Given the description of an element on the screen output the (x, y) to click on. 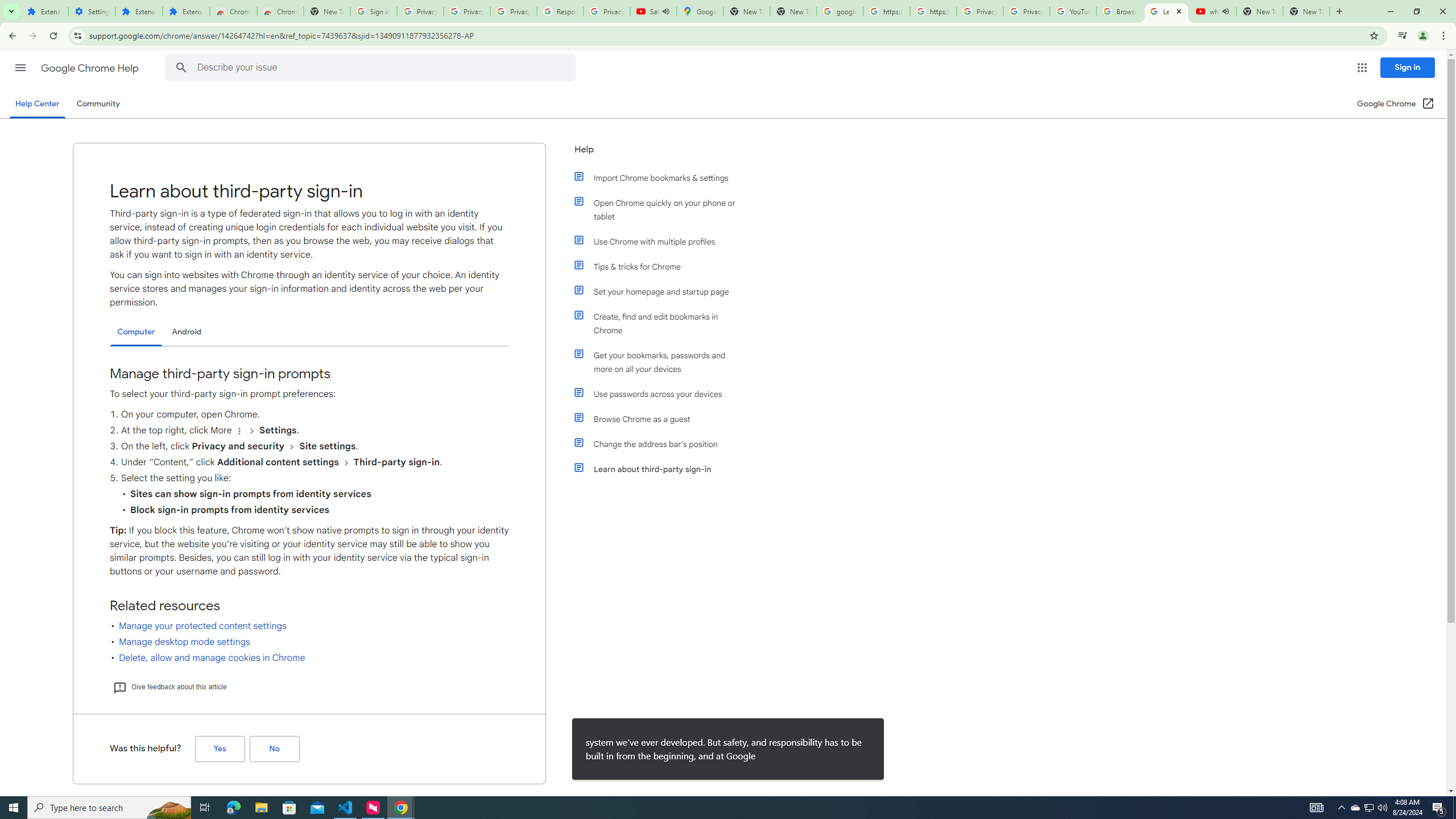
No (Was this helpful?) (273, 749)
Google Chrome Help (90, 68)
Create, find and edit bookmarks in Chrome (661, 323)
Import Chrome bookmarks & settings (661, 177)
Use Chrome with multiple profiles (661, 241)
